Given the description of an element on the screen output the (x, y) to click on. 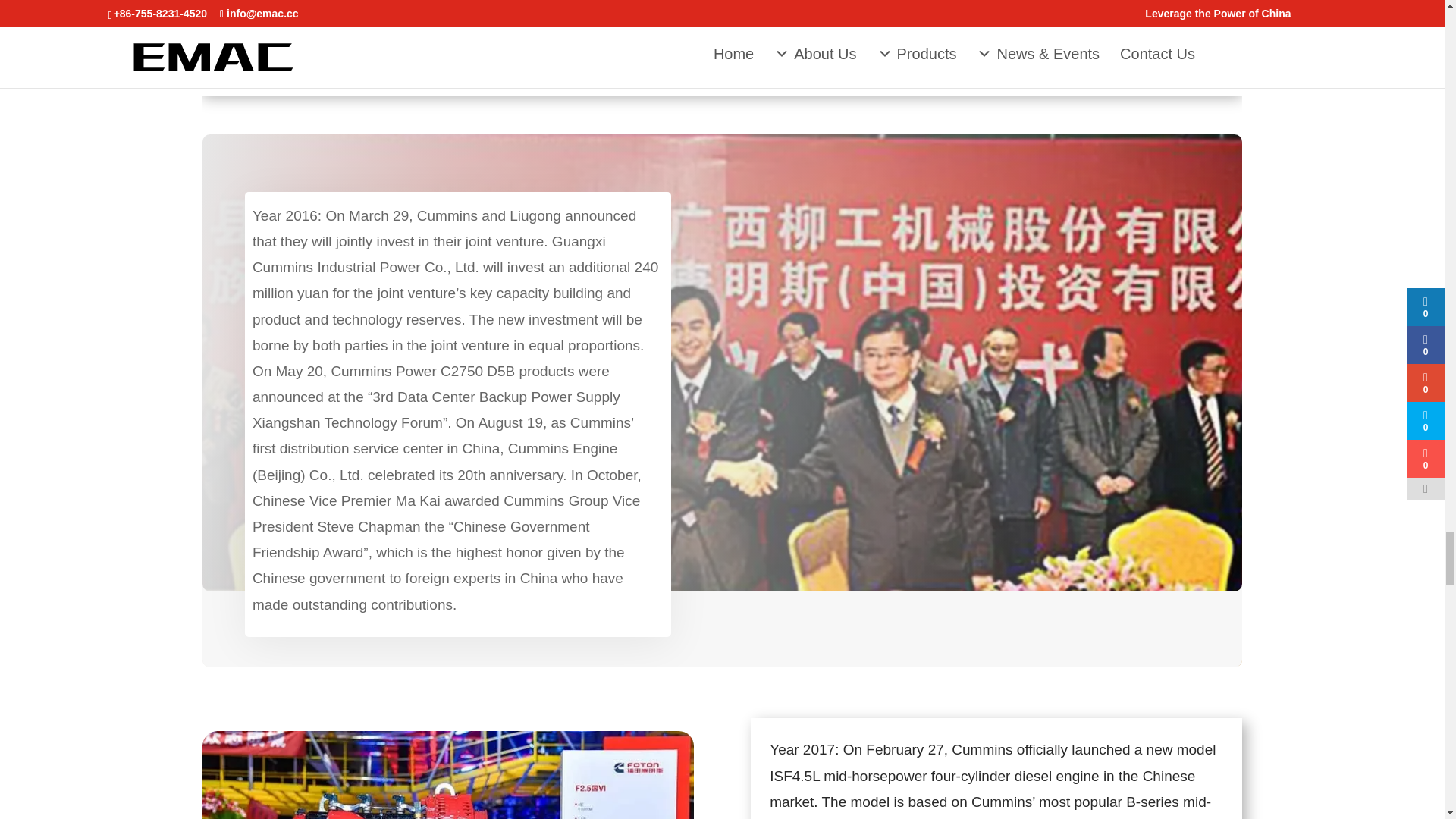
Cummins BFCEC ENGINE CARTONS 700x467 (448, 775)
